Given the description of an element on the screen output the (x, y) to click on. 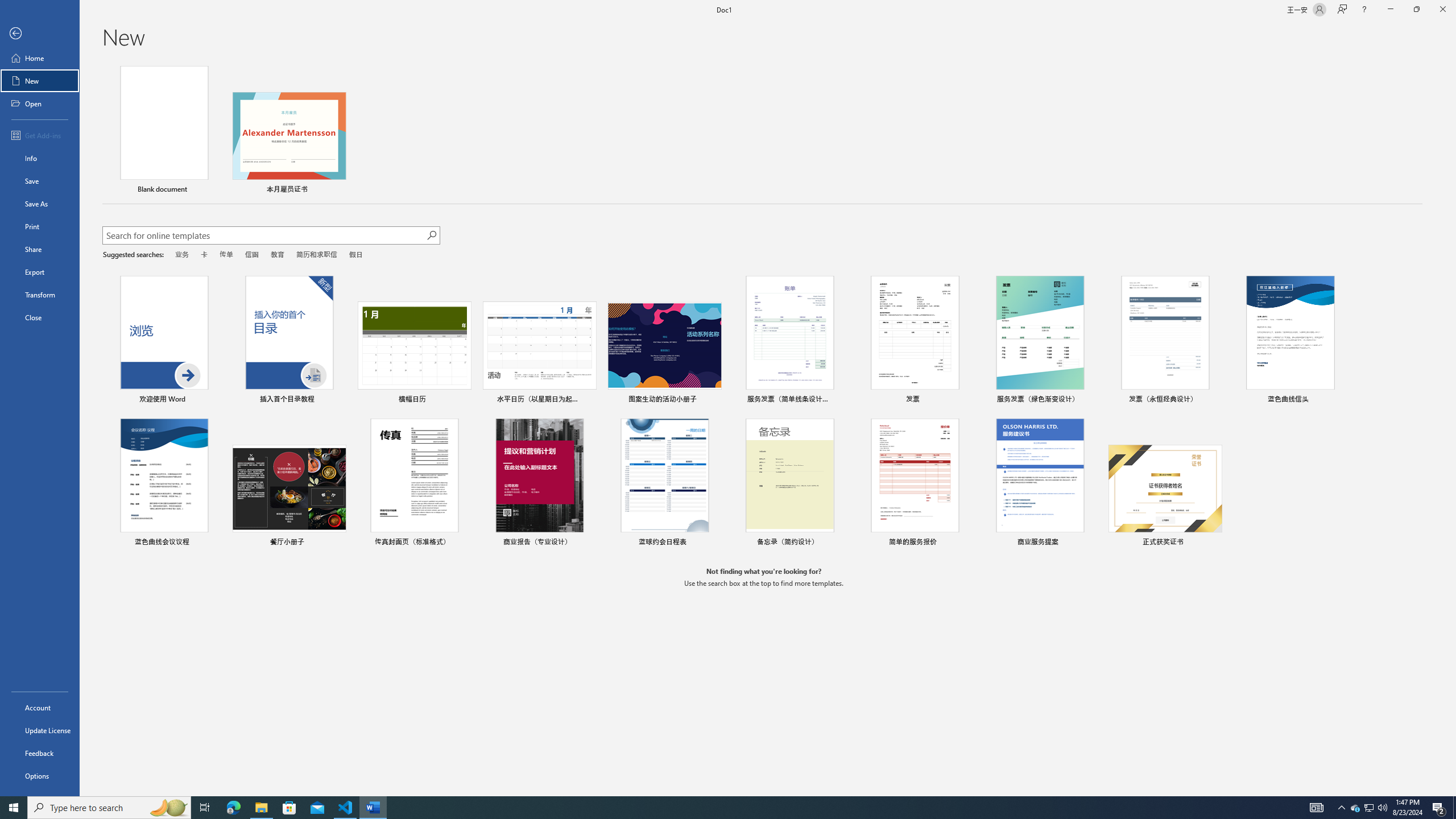
Options (40, 775)
Print (40, 225)
Class: NetUIScrollBar (1450, 428)
